Given the description of an element on the screen output the (x, y) to click on. 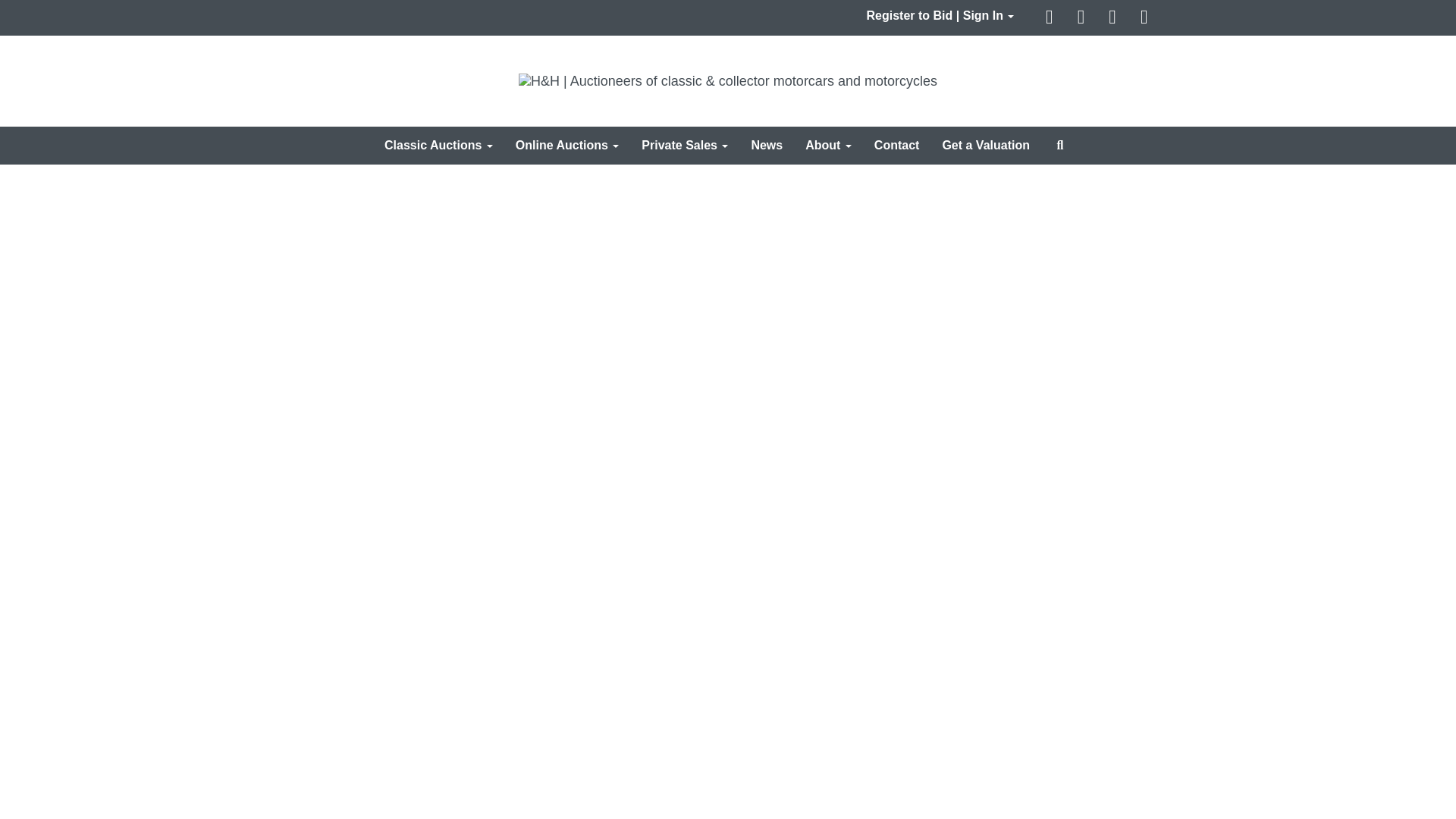
Go to our youtube page (1114, 19)
Go to our facebook page (1050, 19)
Go to our page on X (1082, 19)
Go to our instagram page (1145, 19)
